Given the description of an element on the screen output the (x, y) to click on. 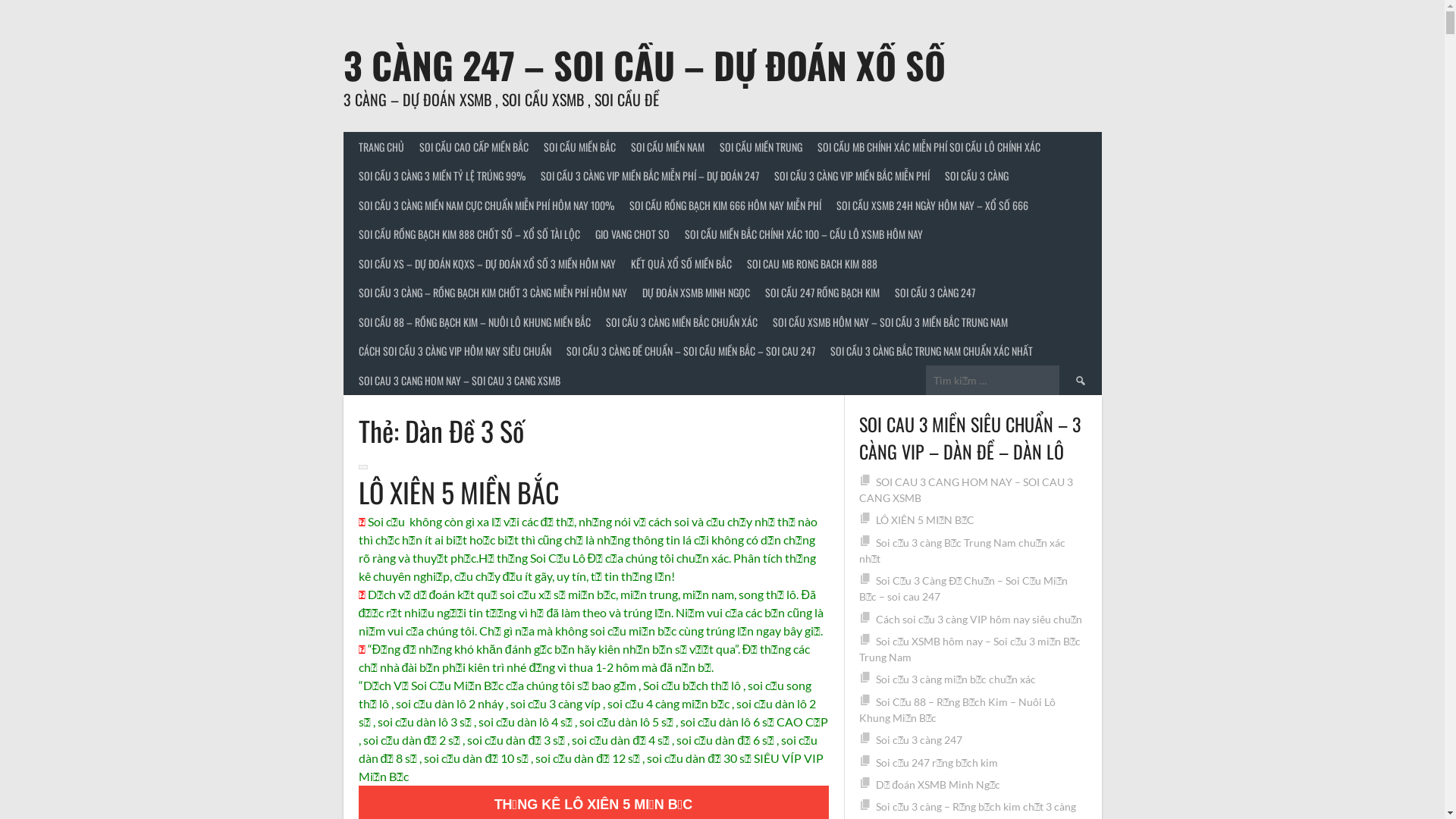
Skip to content Element type: text (0, 0)
GIO VANG CHOT SO Element type: text (631, 234)
SOI CAU MB RONG BACH KIM 888 Element type: text (811, 263)
